Given the description of an element on the screen output the (x, y) to click on. 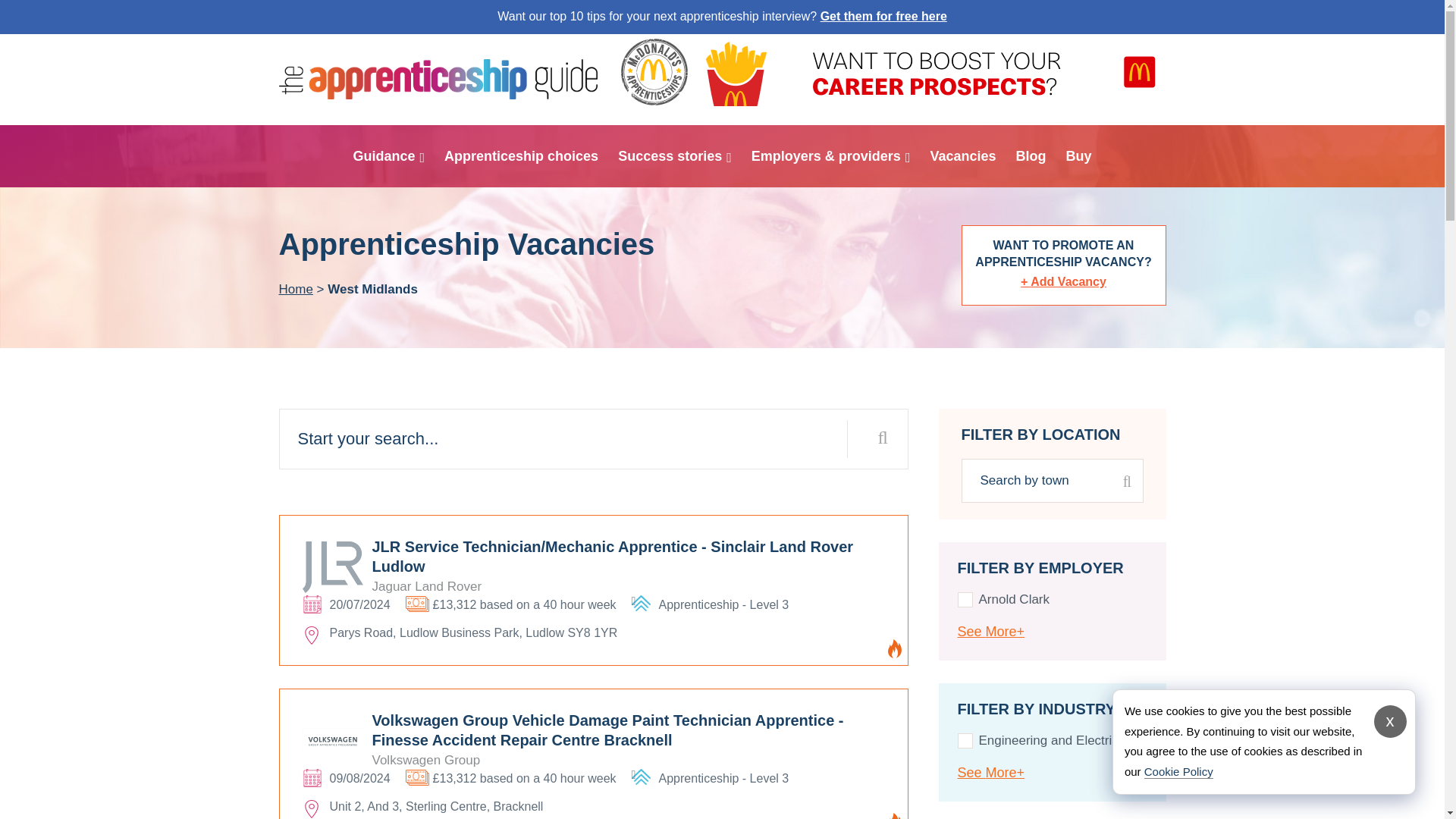
Get them for free here (884, 15)
Guidance (388, 155)
Success stories (674, 155)
Apprenticeship choices (521, 155)
